Given the description of an element on the screen output the (x, y) to click on. 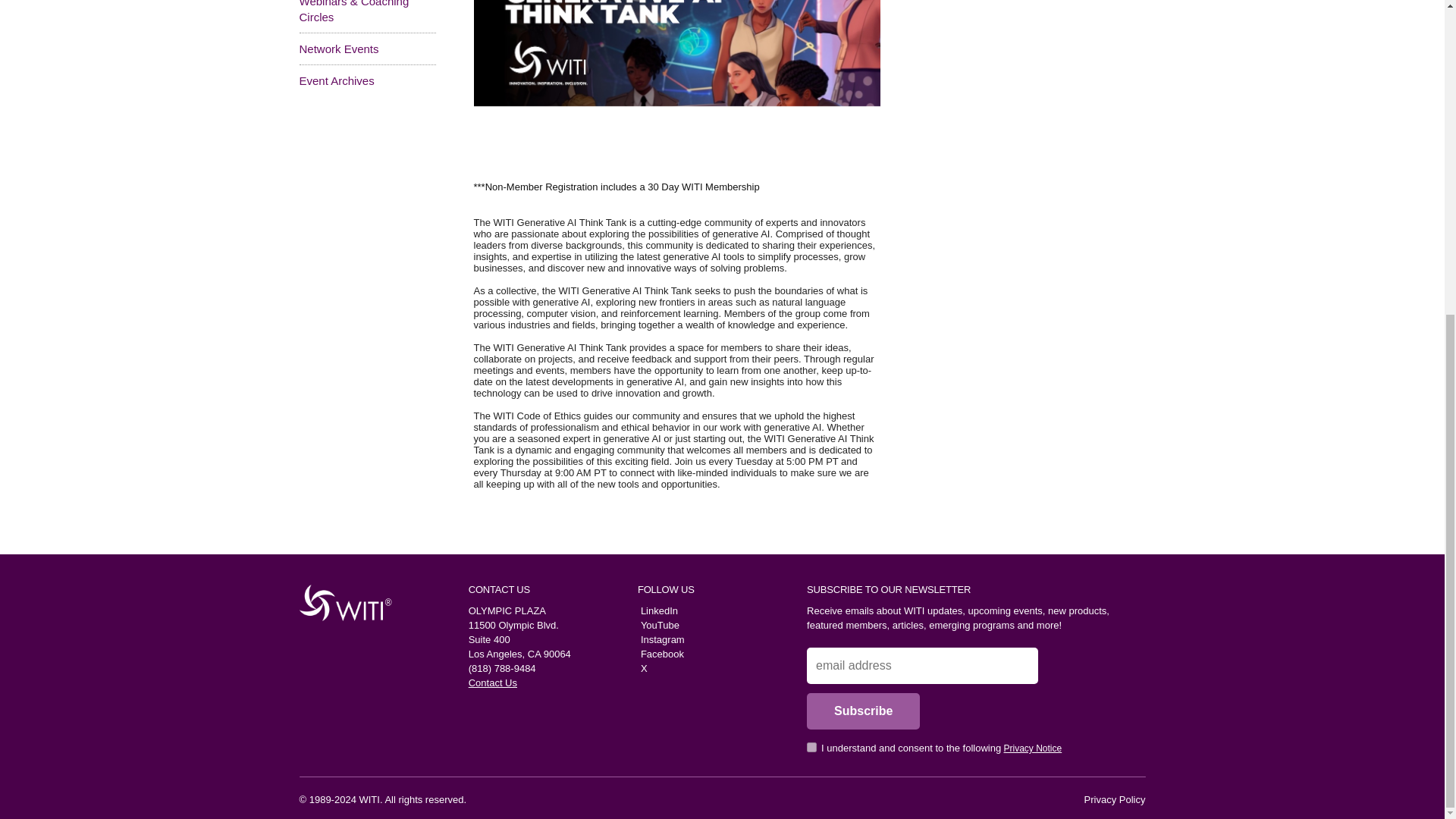
LinkedIn (657, 610)
Contact Us (492, 682)
on (811, 747)
Workforce Innovation, Trust, and Influence (339, 601)
Network Events (338, 49)
Facebook (660, 654)
YouTube (658, 624)
Instagram (660, 639)
Subscribe (863, 710)
Privacy Notice (1033, 747)
Subscribe (863, 710)
Event Archives (336, 80)
